Given the description of an element on the screen output the (x, y) to click on. 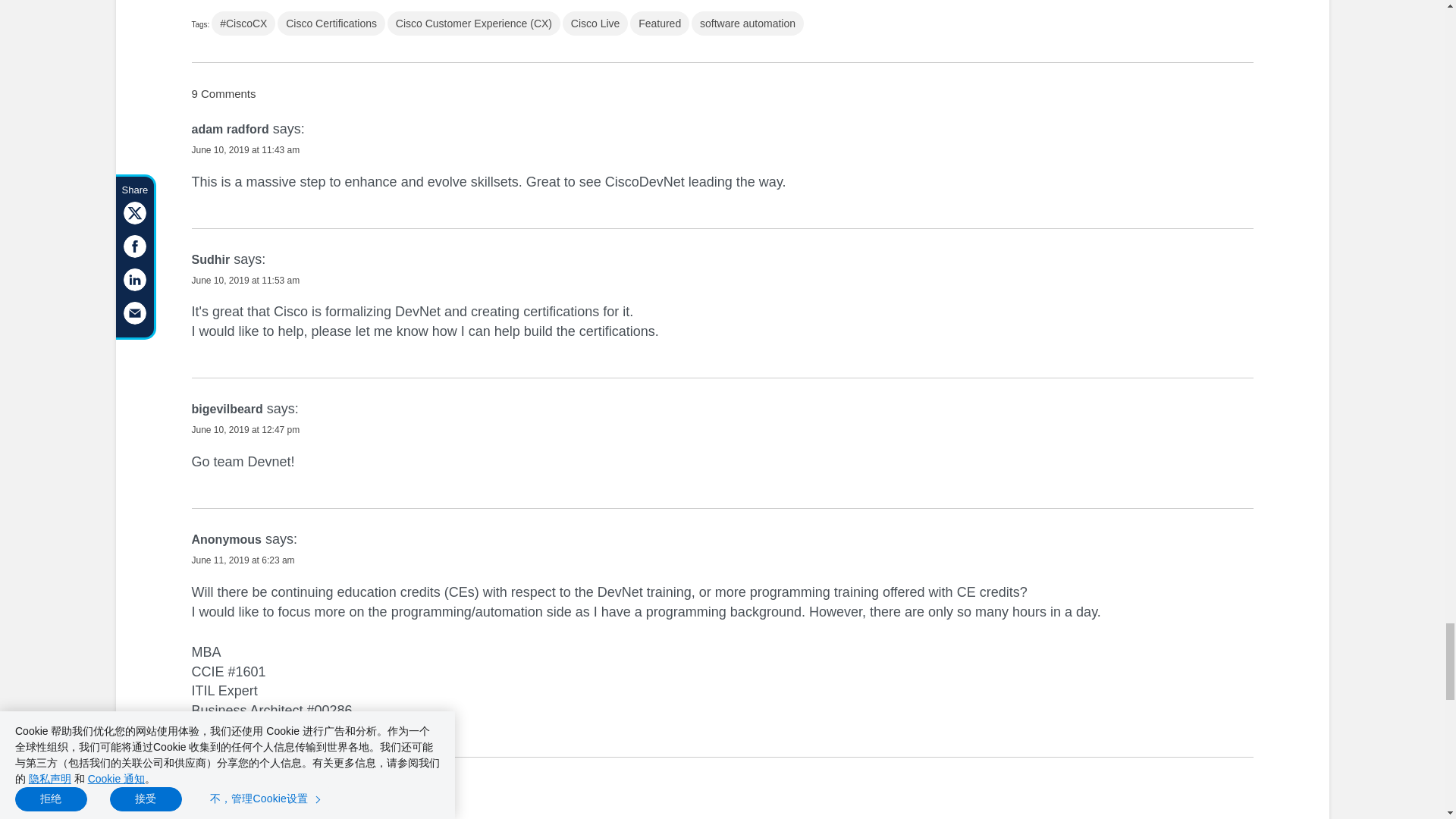
Featured (659, 23)
June 10, 2019 at 11:53 am (244, 280)
June 10, 2019 at 11:43 am (244, 149)
June 10, 2019 at 12:47 pm (244, 429)
June 11, 2019 at 6:23 am (242, 560)
Cisco Live (595, 23)
Cisco Certifications (331, 23)
software automation (747, 23)
June 11, 2019 at 9:28 am (242, 808)
